Given the description of an element on the screen output the (x, y) to click on. 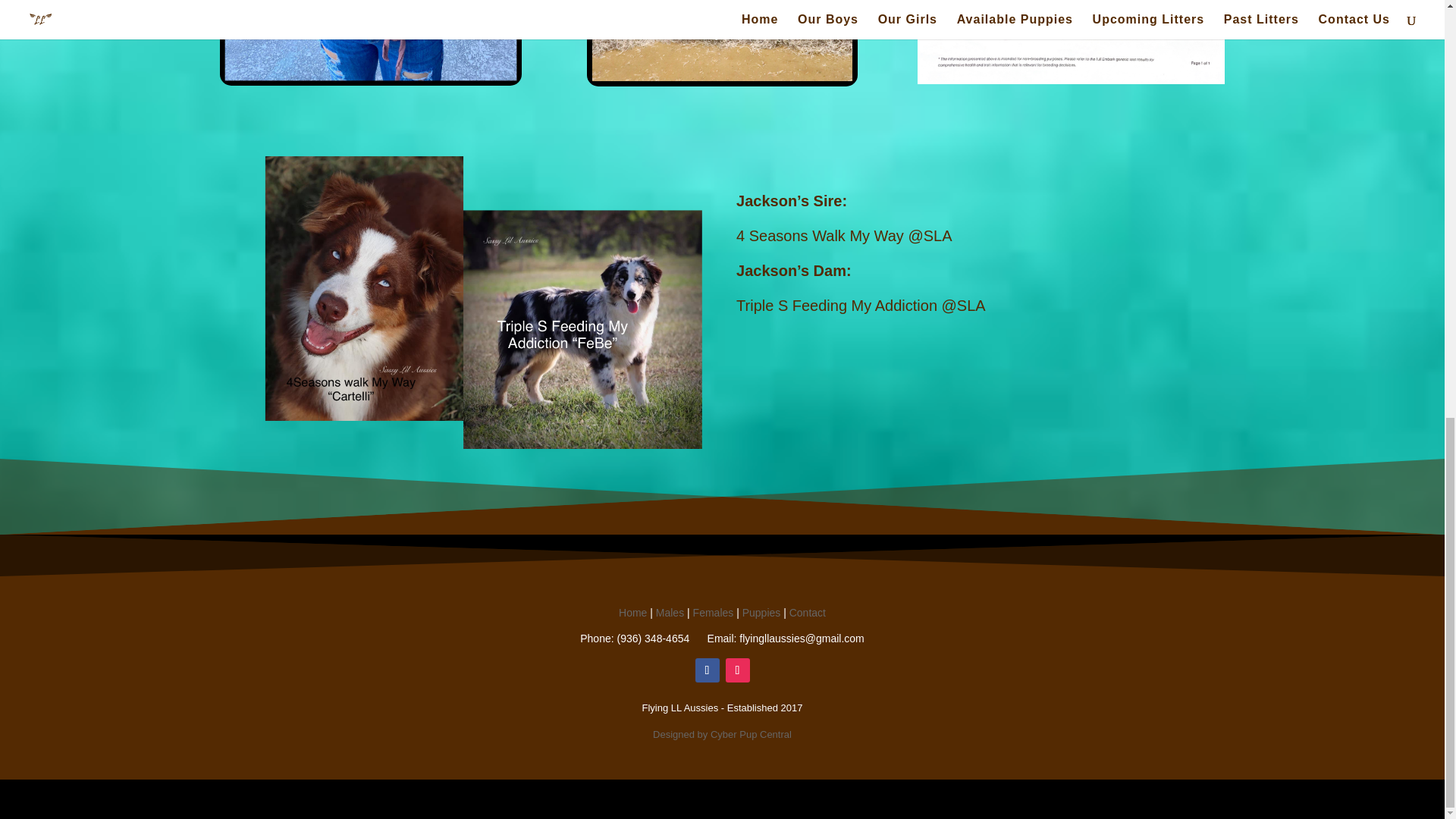
Follow on Instagram (737, 670)
Contact (807, 612)
Females (713, 612)
Follow on Facebook (706, 670)
Home (632, 612)
Our Girls (713, 612)
Premium WordPress Themes (385, 798)
WordPress (483, 798)
Puppies (761, 612)
Our Boys (670, 612)
Home (632, 612)
Jackson1a (370, 42)
Designed by Cyber Pup Central (722, 734)
Males (670, 612)
